Given the description of an element on the screen output the (x, y) to click on. 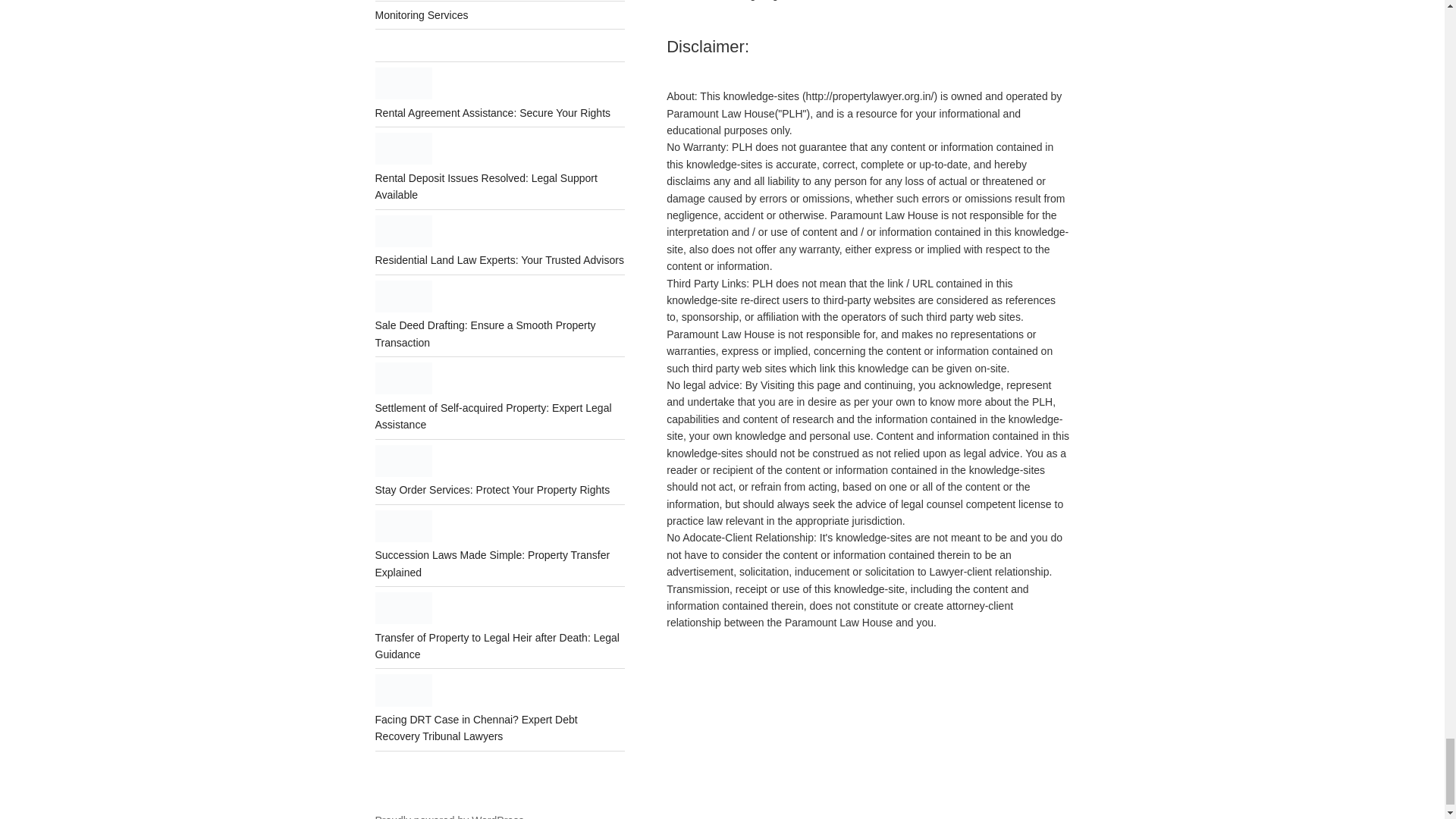
Rental Deposit Issues Resolved: Legal Support Available (485, 185)
Residential Land Law Experts: Your Trusted Advisors (498, 259)
Proudly powered by WordPress (449, 816)
Monitoring Services (420, 15)
Stay Order Services: Protect Your Property Rights (492, 490)
Succession Laws Made Simple: Property Transfer Explained (492, 563)
Sale Deed Drafting: Ensure a Smooth Property Transaction (484, 333)
Rental Agreement Assistance: Secure Your Rights (492, 112)
